Given the description of an element on the screen output the (x, y) to click on. 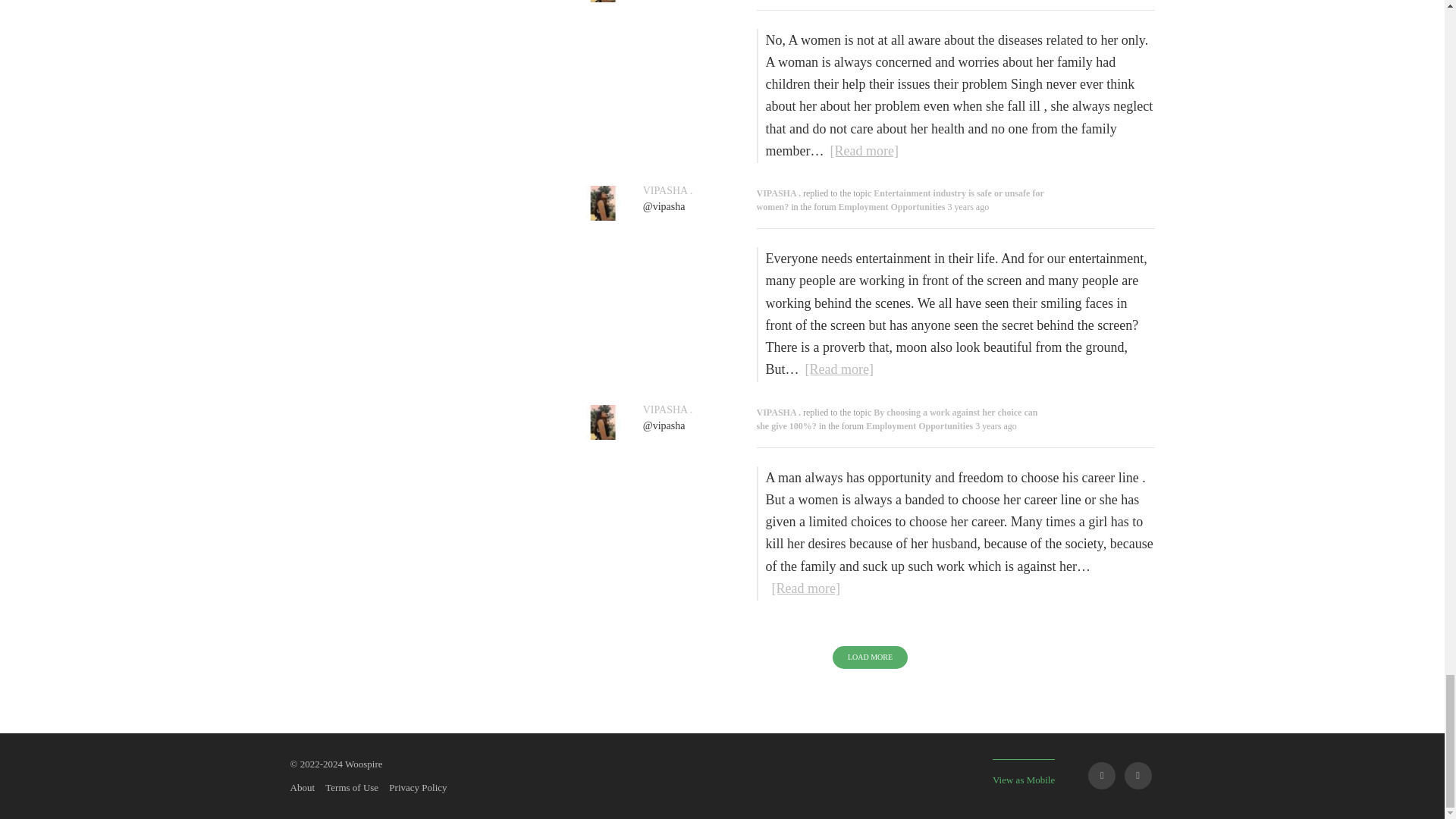
twitter (1137, 775)
facebook (1101, 775)
View as Mobile (1023, 772)
